Given the description of an element on the screen output the (x, y) to click on. 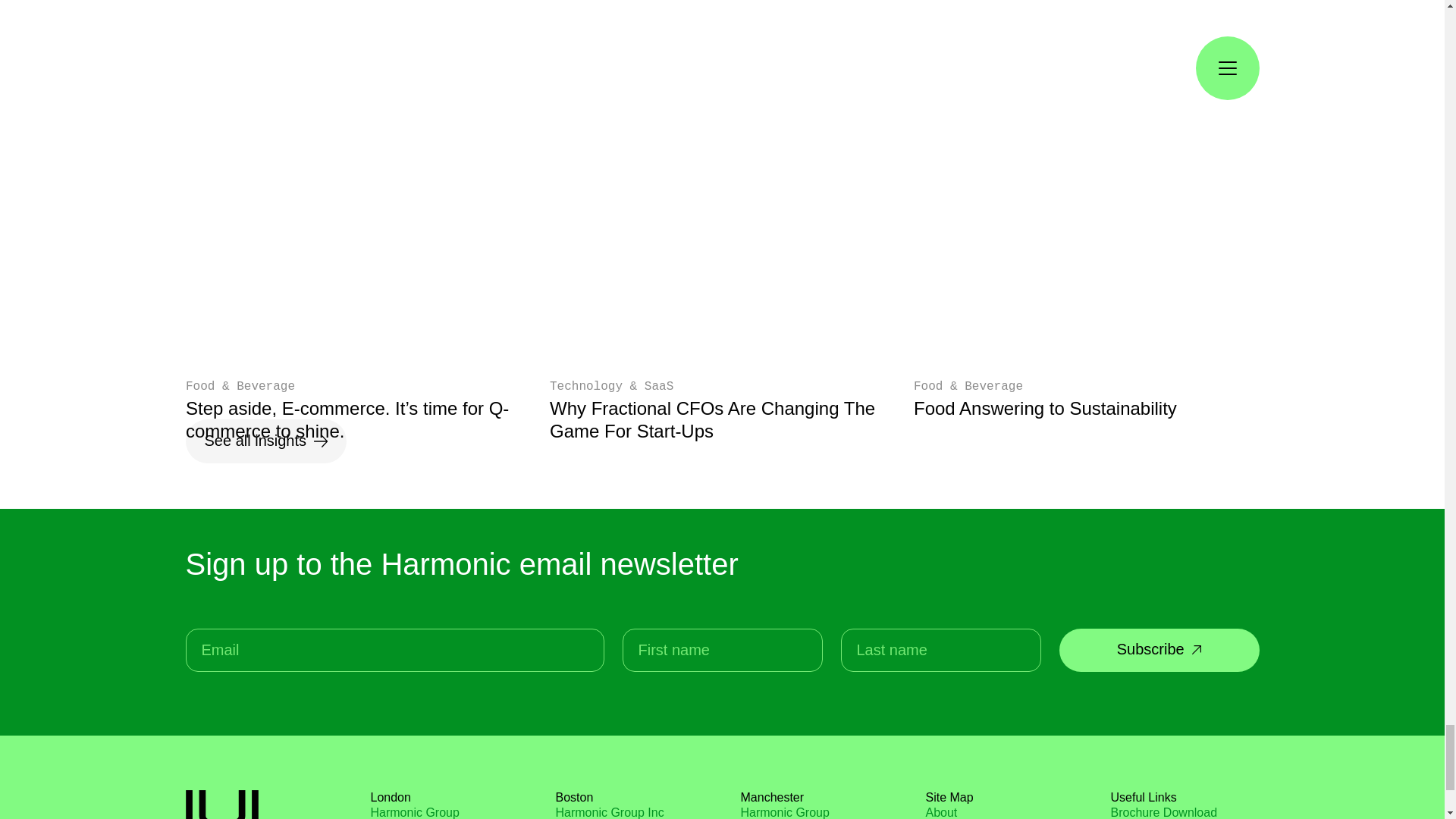
See all insights (265, 441)
Subscribe (1158, 650)
